Given the description of an element on the screen output the (x, y) to click on. 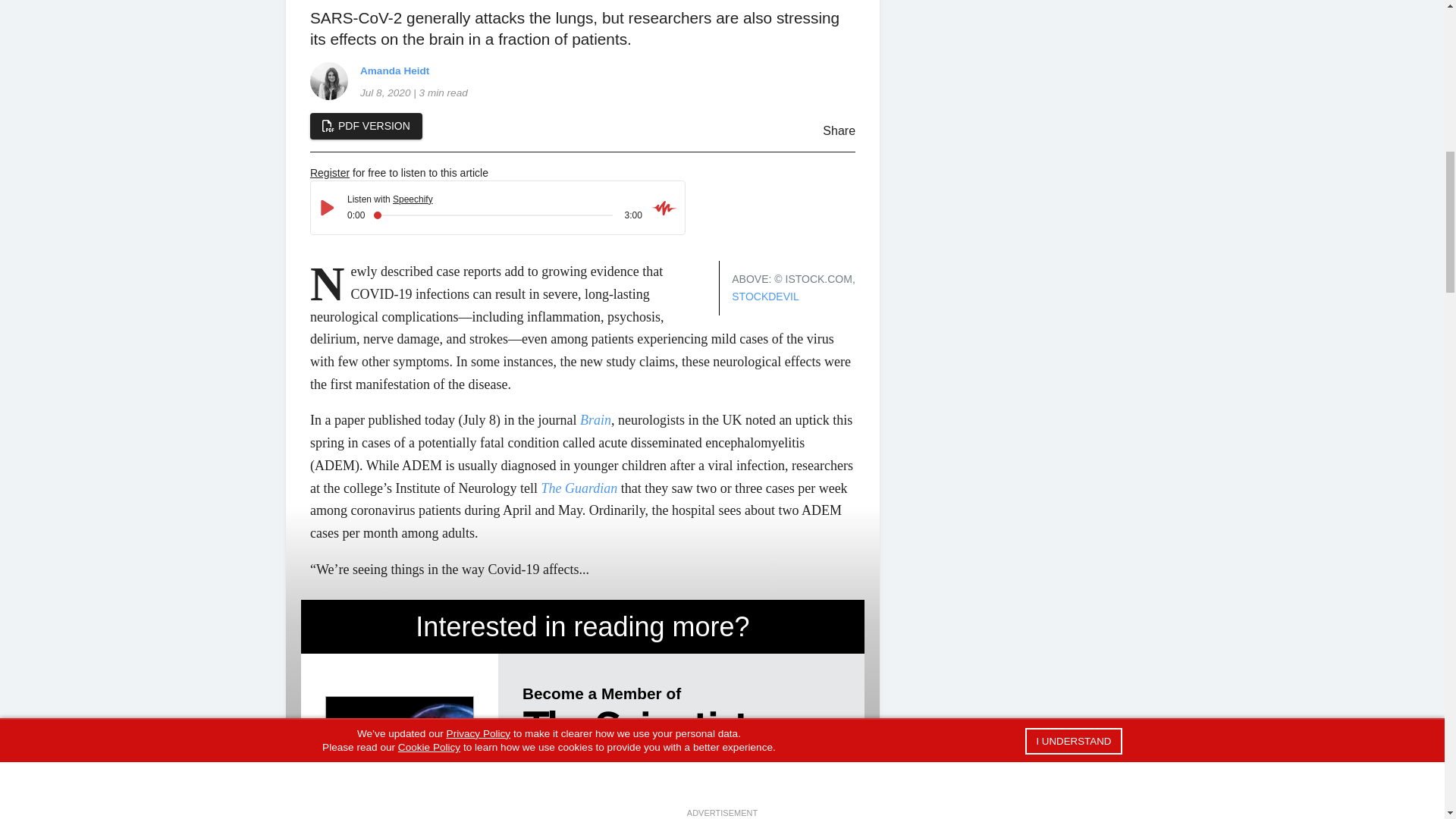
Amanda Heidt (328, 80)
